Given the description of an element on the screen output the (x, y) to click on. 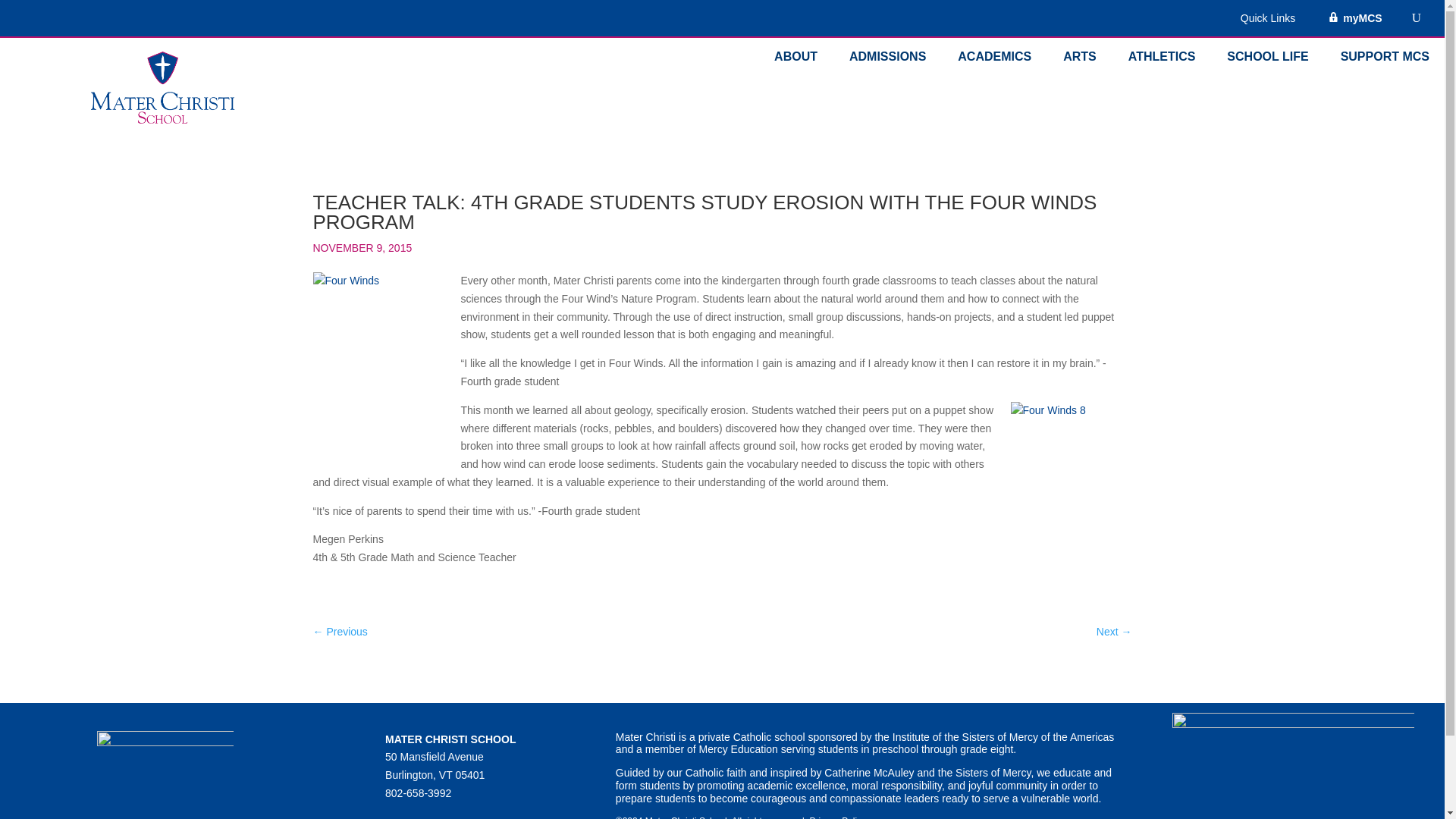
ARTS (1087, 59)
ABOUT (803, 59)
Quick Links (1275, 21)
Follow on  (488, 815)
Follow on  (426, 815)
Follow on  (457, 815)
ACADEMICS (1002, 59)
myMCS (1353, 21)
Follow on  (397, 815)
logo-mater-christi-white-2x (164, 764)
